Given the description of an element on the screen output the (x, y) to click on. 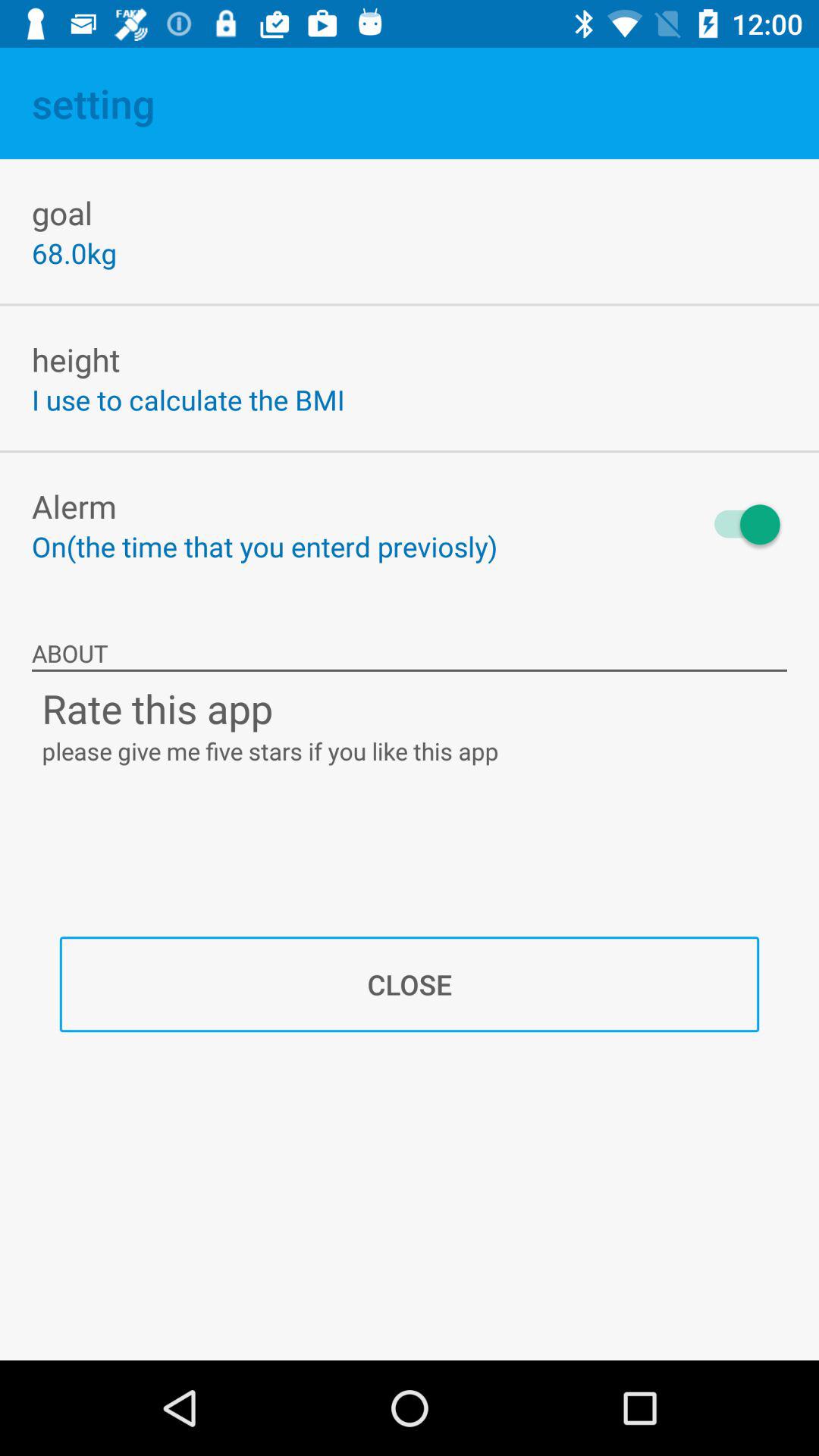
click item above alerm (187, 399)
